Given the description of an element on the screen output the (x, y) to click on. 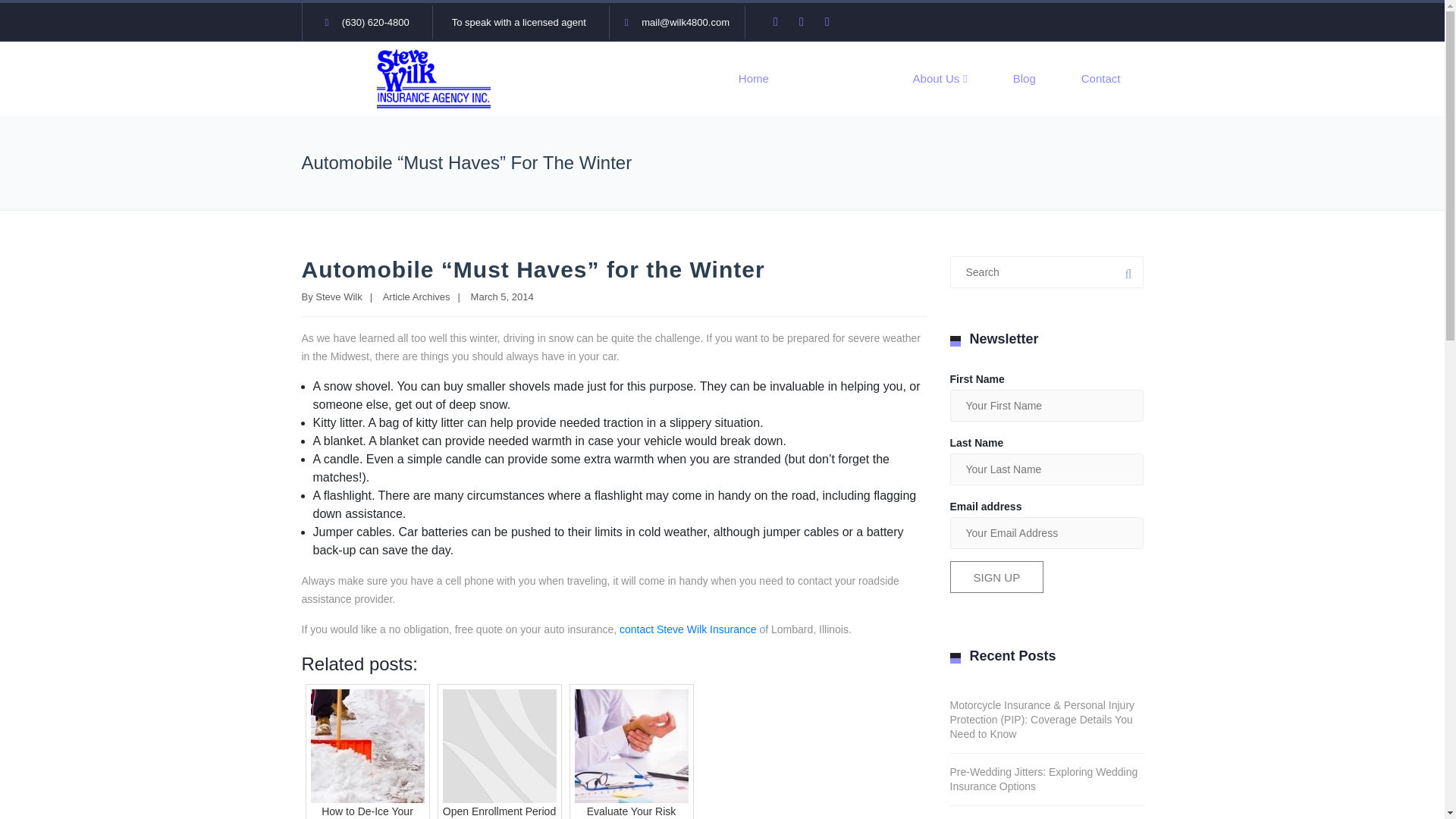
Article Archives (415, 296)
SIGN UP (996, 576)
Open Enrollment Period for 2015 is Almost Here! (498, 751)
March 5, 2014 (502, 296)
About Us (939, 78)
Linkedin (832, 21)
Home (754, 78)
Steve Wilk Insurance Agency (433, 77)
Steve Wilk Insurance (706, 629)
Products (840, 78)
contact (636, 629)
Twitter (806, 21)
How to De-Ice Your Sidewalk (366, 751)
SIGN UP (996, 576)
Steve Wilk (338, 296)
